Given the description of an element on the screen output the (x, y) to click on. 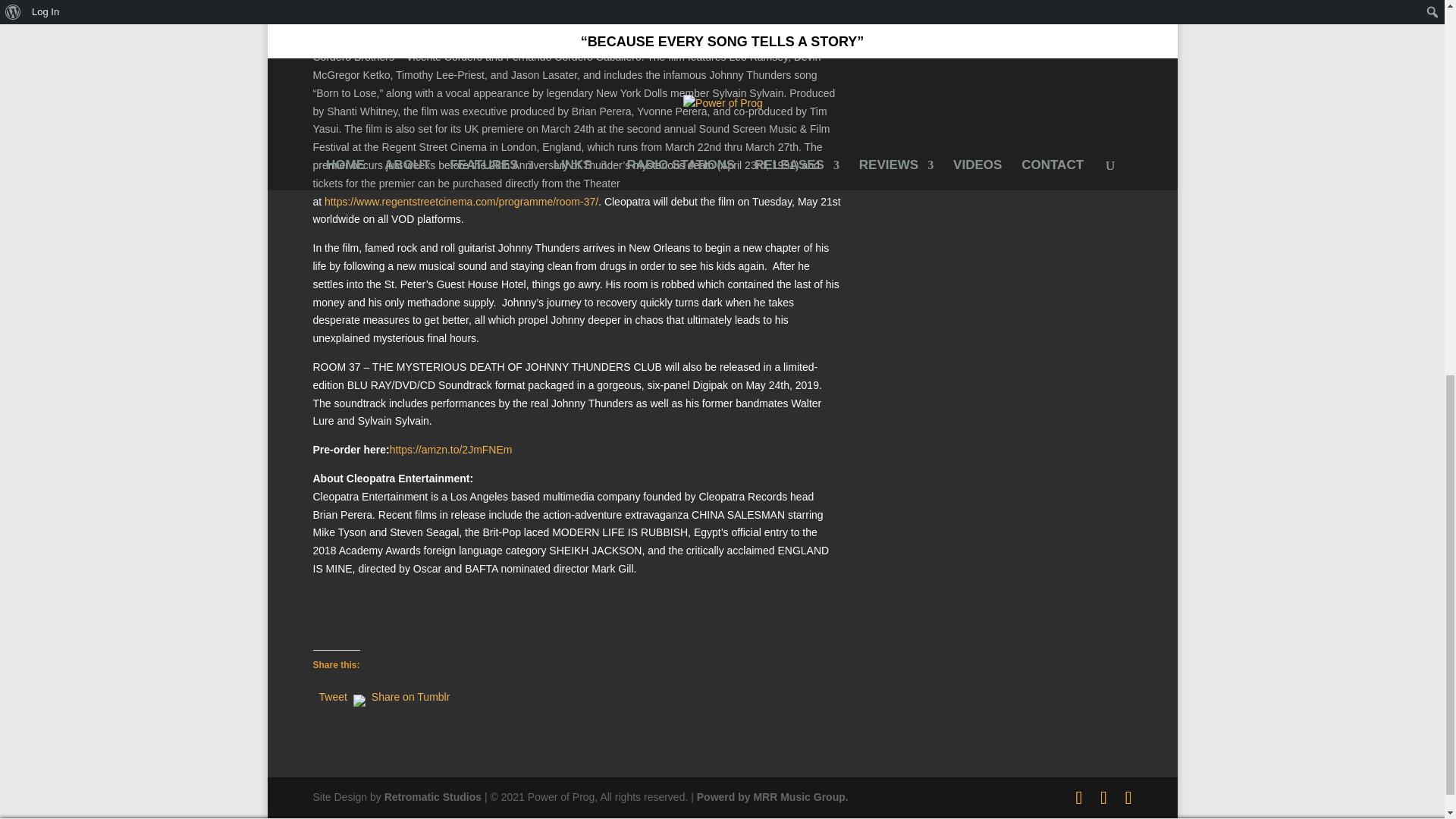
Retromatic Studios (432, 797)
Tweet (332, 694)
Share on Tumblr (410, 694)
Share on Tumblr (410, 694)
Powerd by MRR Music Group. (772, 797)
